Given the description of an element on the screen output the (x, y) to click on. 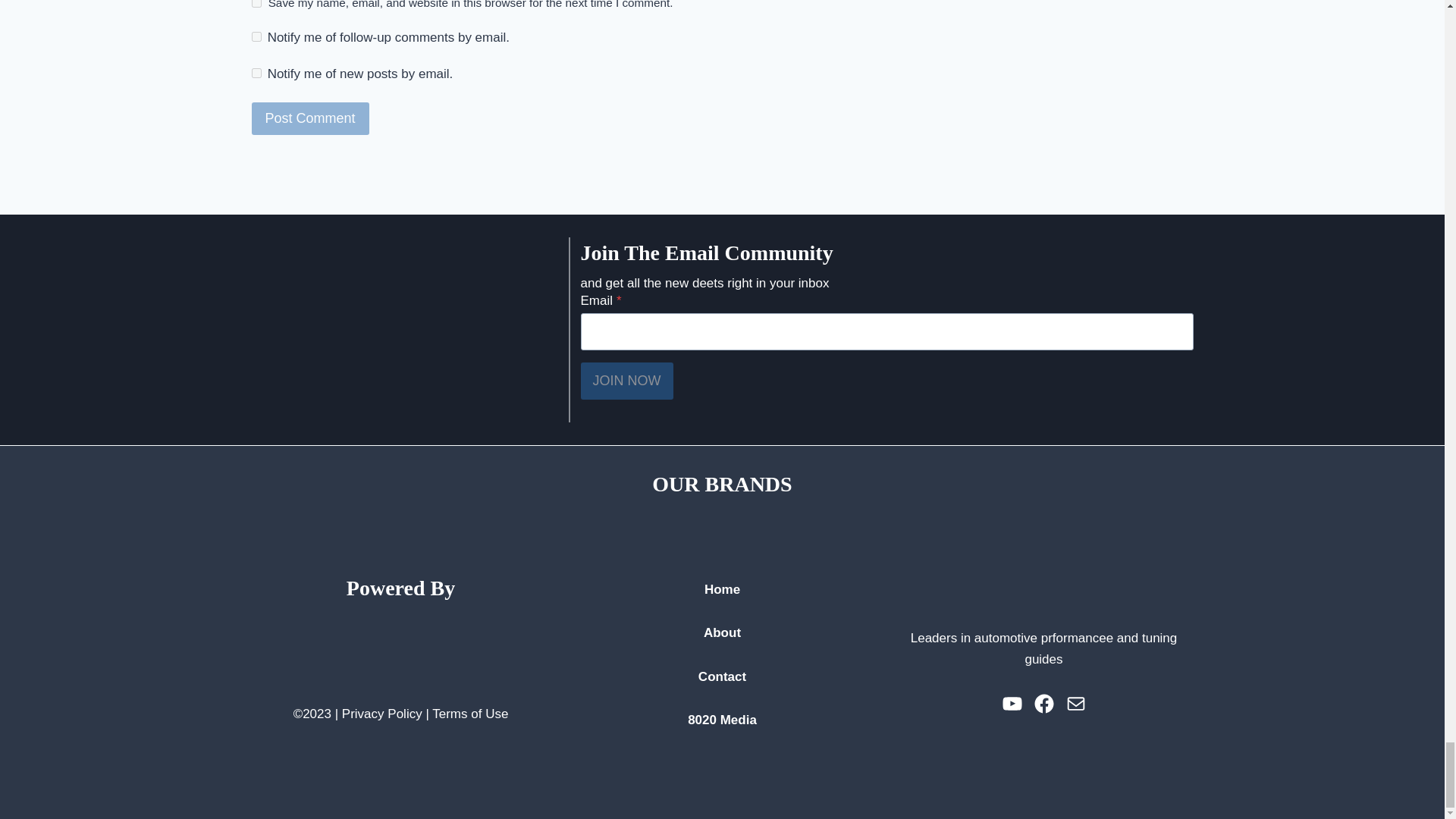
Post Comment (310, 118)
yes (256, 3)
subscribe (256, 36)
subscribe (256, 72)
